Given the description of an element on the screen output the (x, y) to click on. 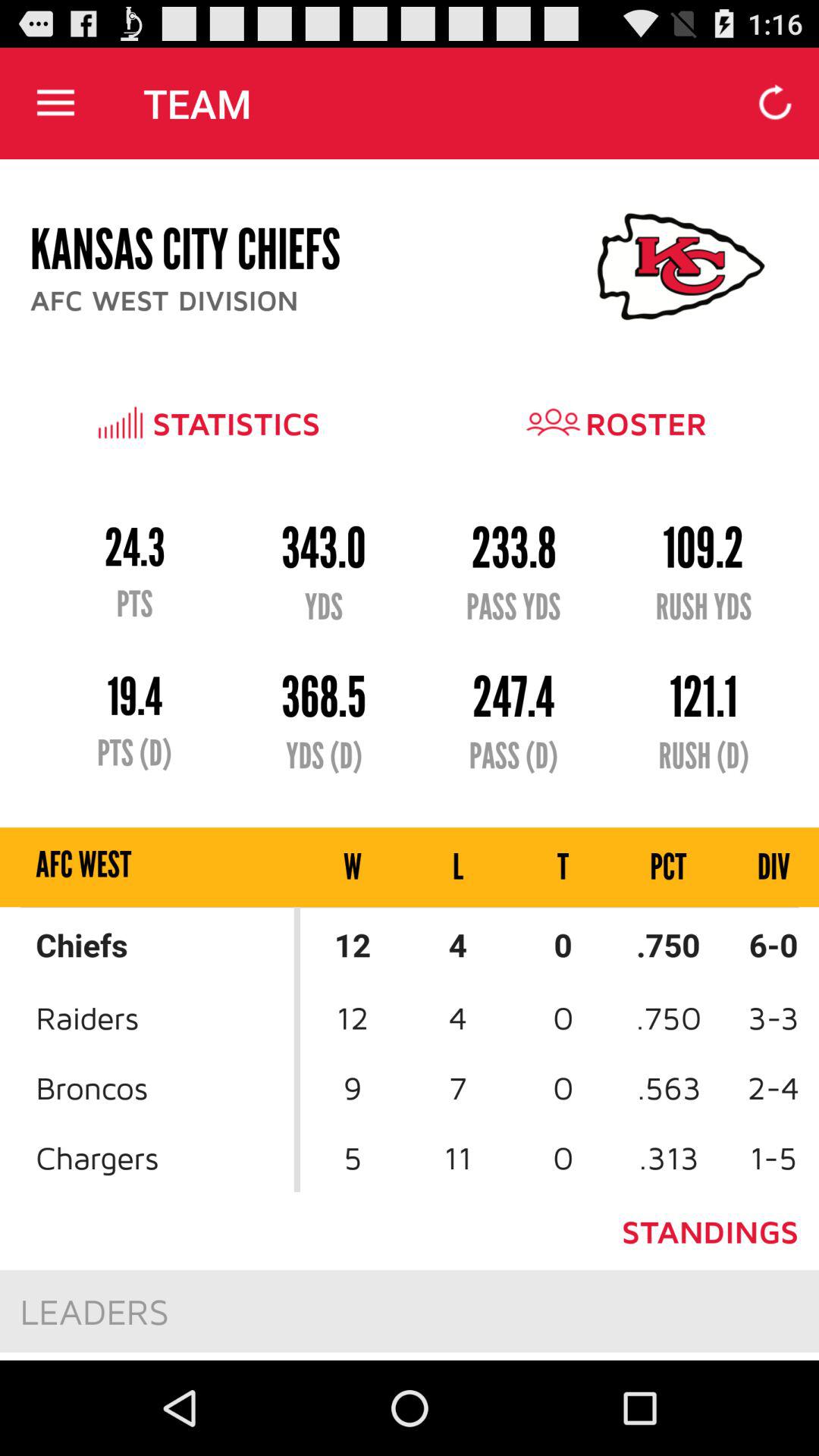
choose item to the left of the team app (55, 103)
